Given the description of an element on the screen output the (x, y) to click on. 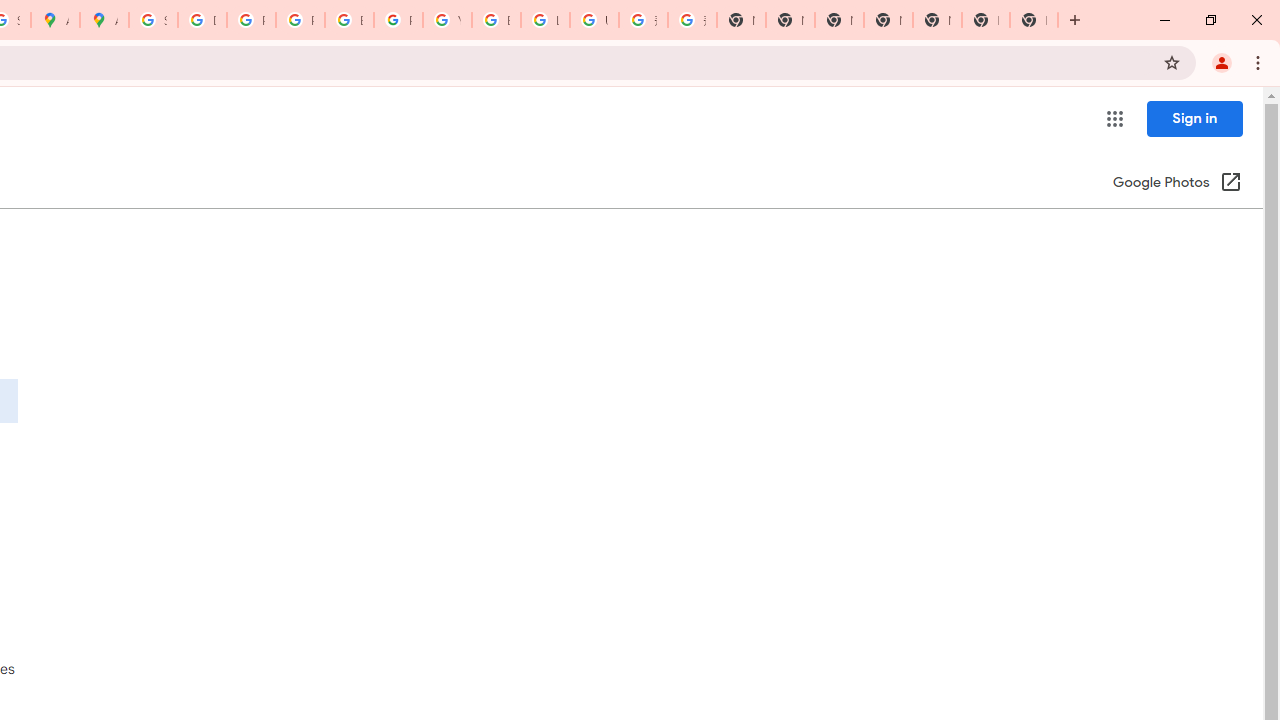
YouTube (447, 20)
New Tab (888, 20)
Privacy Help Center - Policies Help (300, 20)
